Given the description of an element on the screen output the (x, y) to click on. 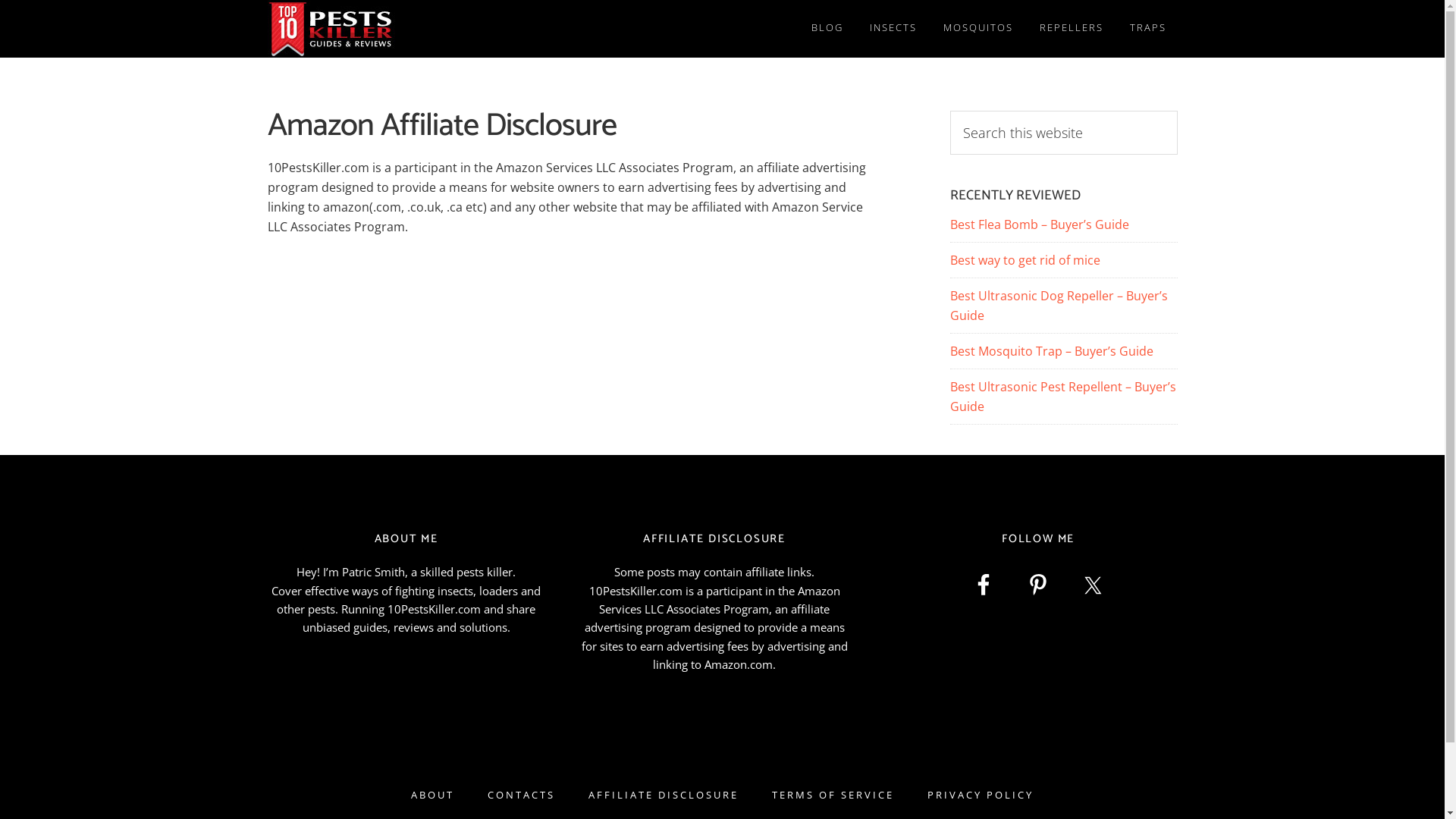
CONTACTS Element type: text (521, 795)
TERMS OF SERVICE Element type: text (832, 795)
REPELLERS Element type: text (1071, 27)
10 Pests Killer Element type: text (402, 28)
ABOUT Element type: text (432, 795)
PRIVACY POLICY Element type: text (980, 795)
Best way to get rid of mice Element type: text (1024, 259)
MOSQUITOS Element type: text (977, 27)
BLOG Element type: text (826, 27)
AFFILIATE DISCLOSURE Element type: text (663, 795)
Search Element type: text (1176, 109)
Skip to primary navigation Element type: text (0, 0)
TRAPS Element type: text (1146, 27)
INSECTS Element type: text (893, 27)
